Given the description of an element on the screen output the (x, y) to click on. 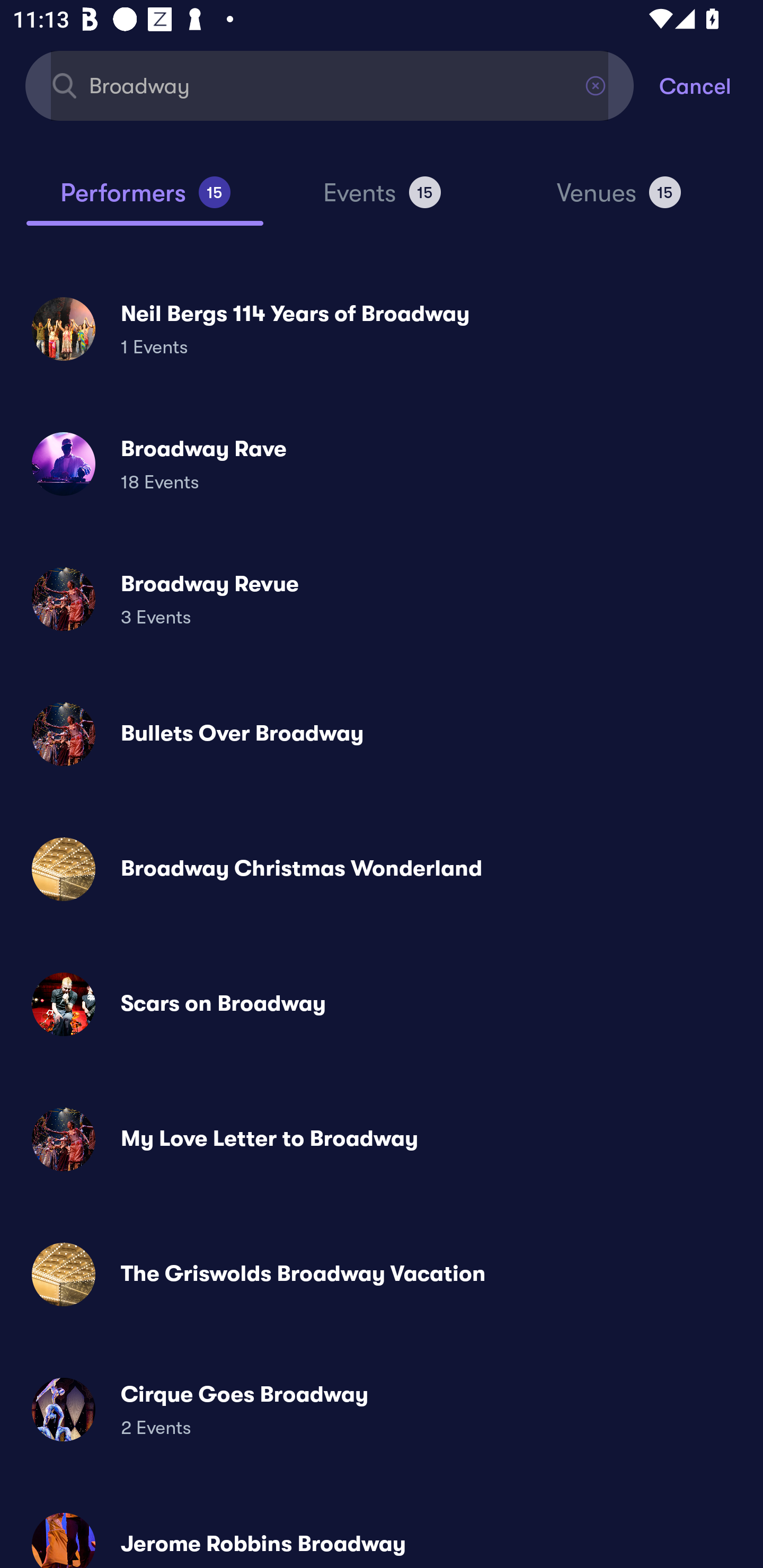
Broadway Find (329, 85)
Broadway Find (329, 85)
Cancel (711, 85)
Performers 15 (144, 200)
Events 15 (381, 200)
Venues 15 (618, 200)
Neil Bergs 114 Years of Broadway 1 Events (381, 328)
Broadway Rave 18 Events (381, 464)
Broadway Revue 3 Events (381, 598)
Bullets Over Broadway (381, 734)
Broadway Christmas Wonderland (381, 869)
Scars on Broadway (381, 1004)
My Love Letter to Broadway (381, 1138)
The Griswolds Broadway Vacation (381, 1273)
Cirque Goes Broadway 2 Events (381, 1409)
Jerome Robbins Broadway (381, 1532)
